Given the description of an element on the screen output the (x, y) to click on. 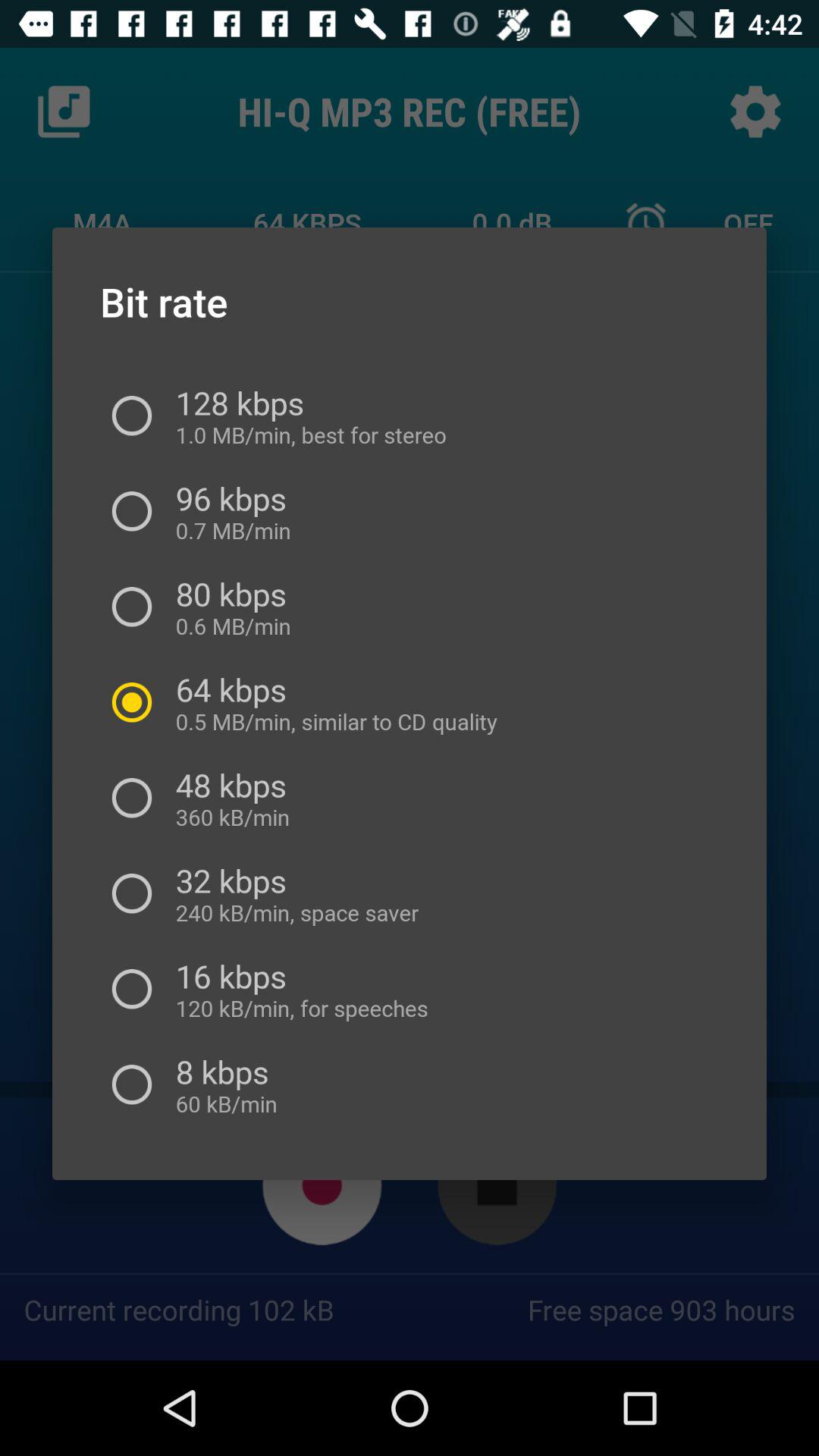
tap the 16 kbps 120 at the bottom (295, 988)
